Given the description of an element on the screen output the (x, y) to click on. 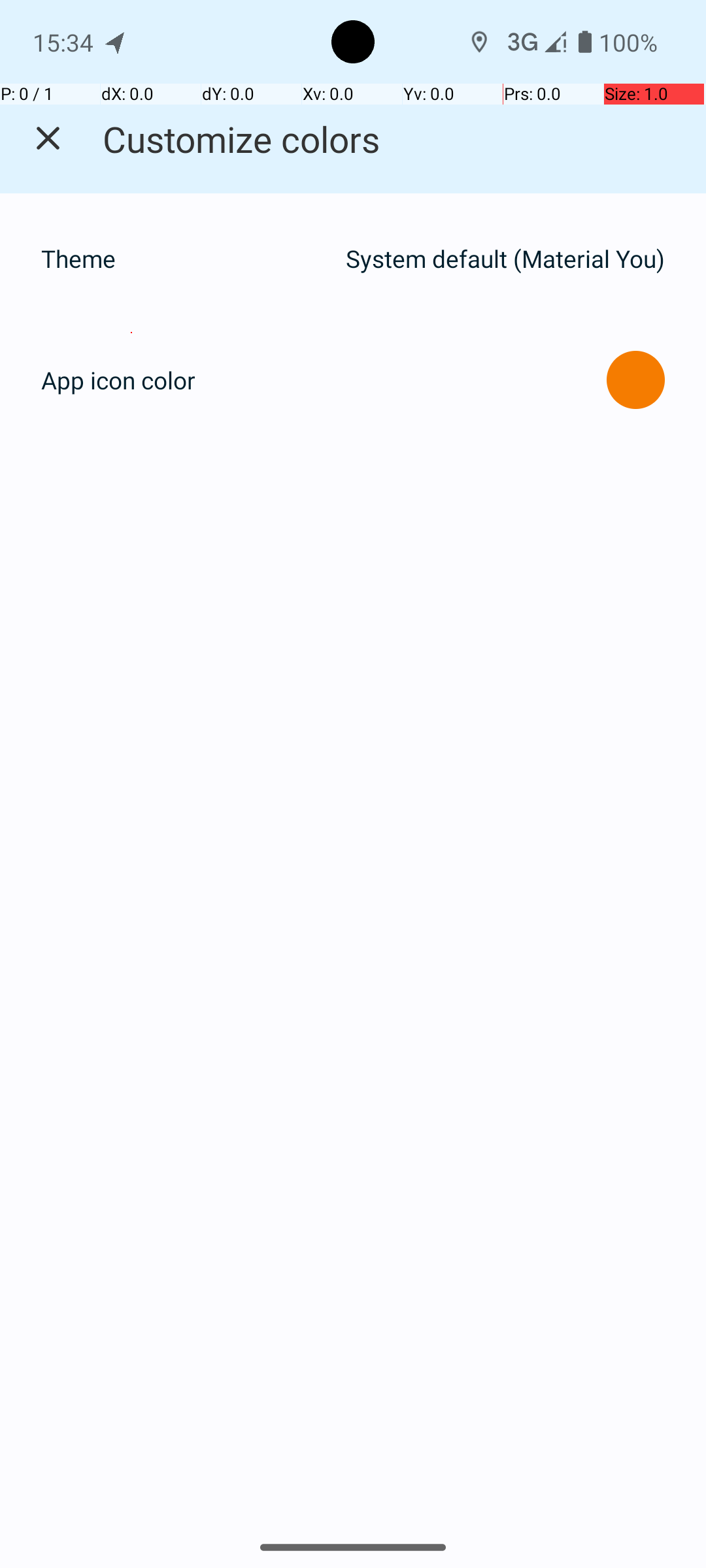
System default (Material You) Element type: android.widget.TextView (504, 258)
App icon color Element type: android.widget.TextView (118, 379)
